Given the description of an element on the screen output the (x, y) to click on. 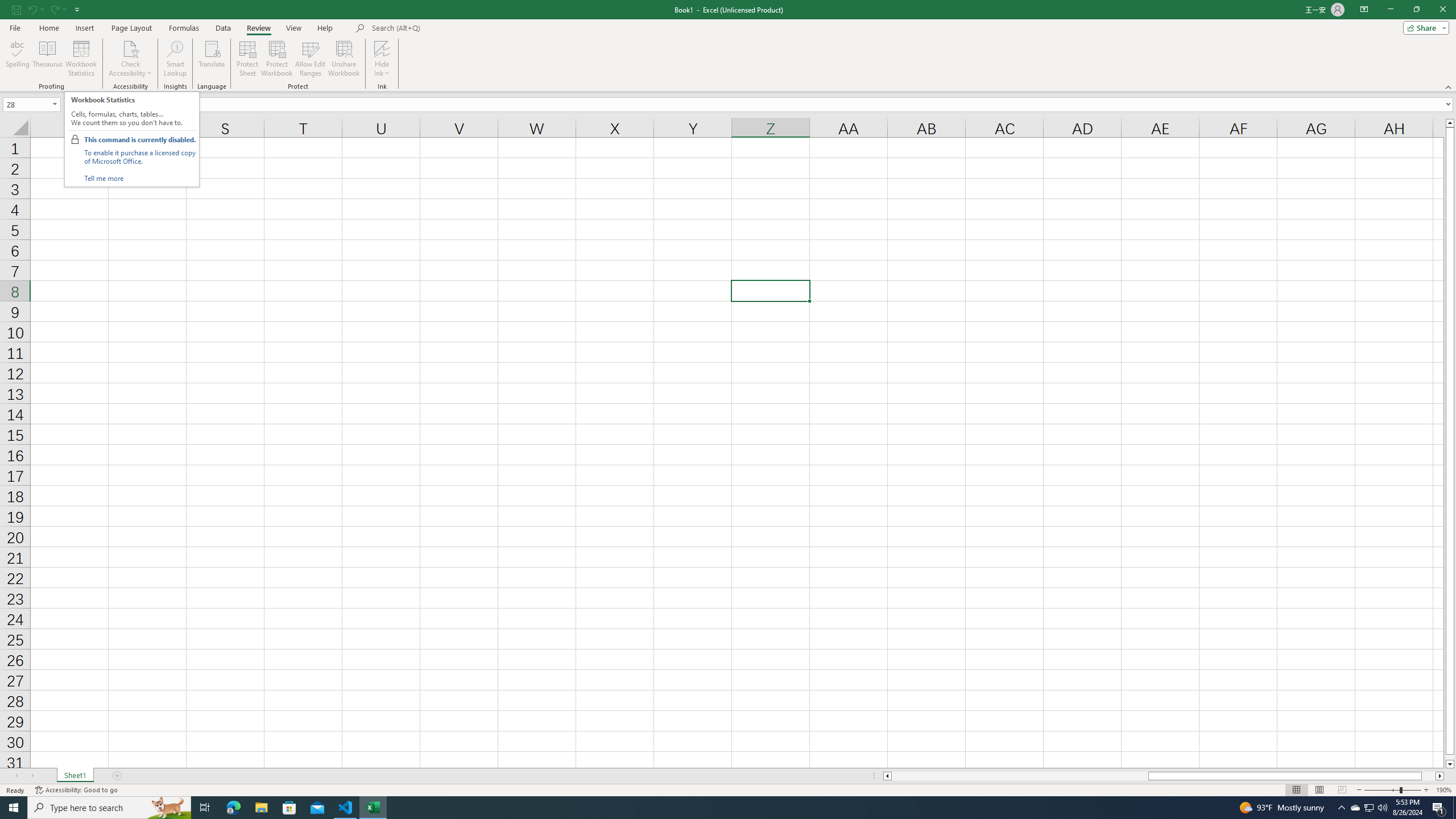
Translate (211, 58)
